Given the description of an element on the screen output the (x, y) to click on. 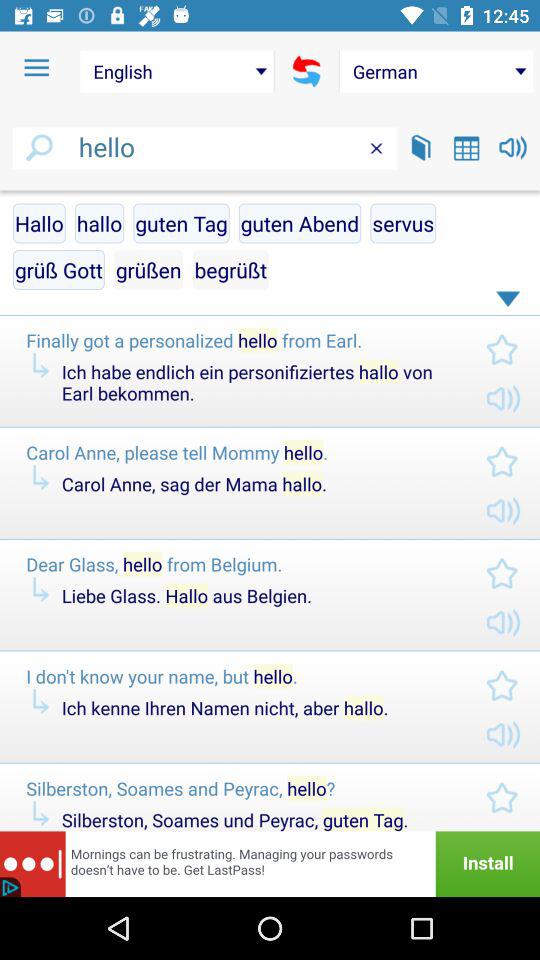
open icon above hello icon (36, 68)
